Given the description of an element on the screen output the (x, y) to click on. 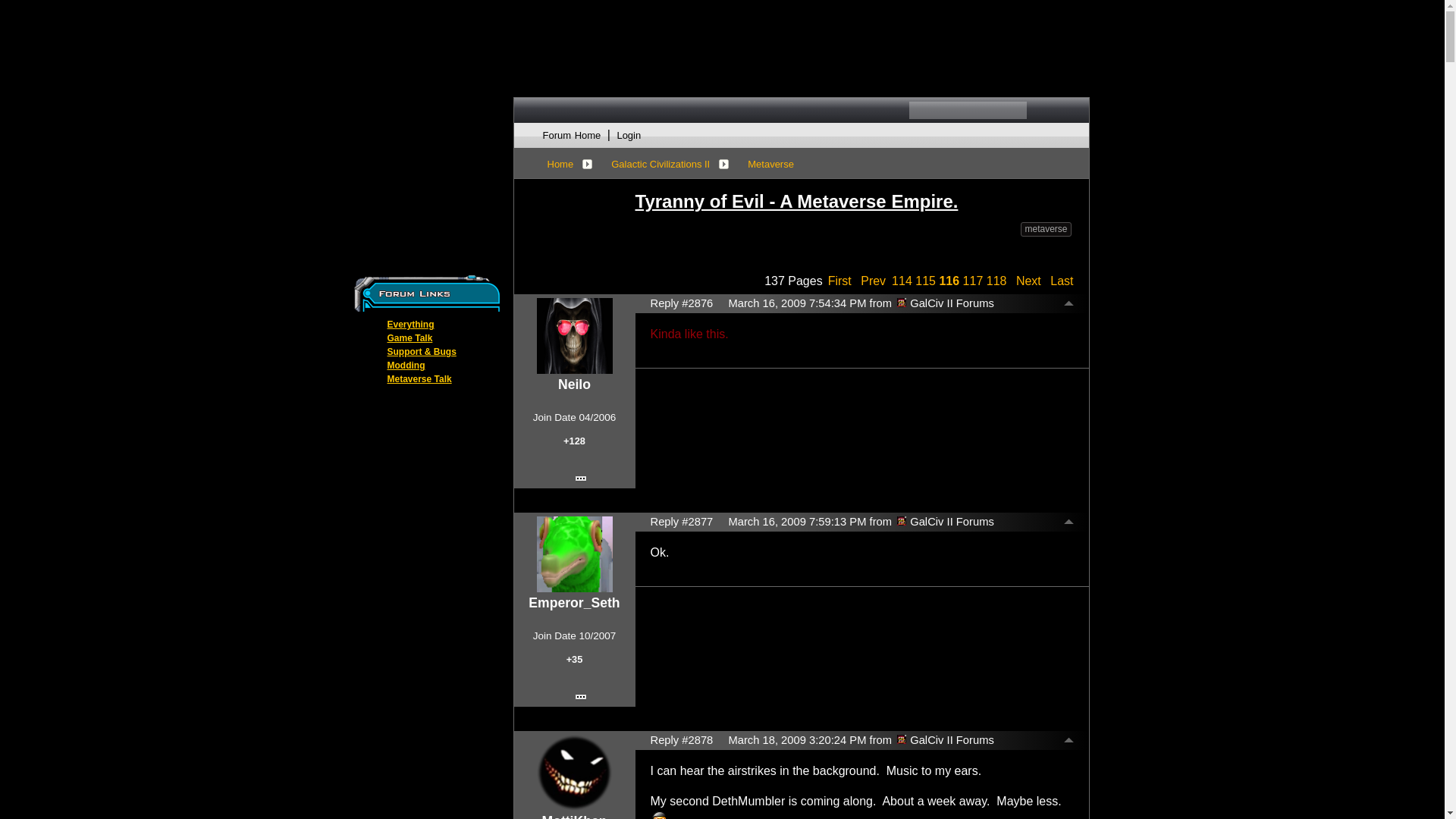
Click to view original post (854, 201)
View Neilo's Karma (573, 443)
Rank: 2 (574, 402)
Click user name to view more options. (574, 384)
